Given the description of an element on the screen output the (x, y) to click on. 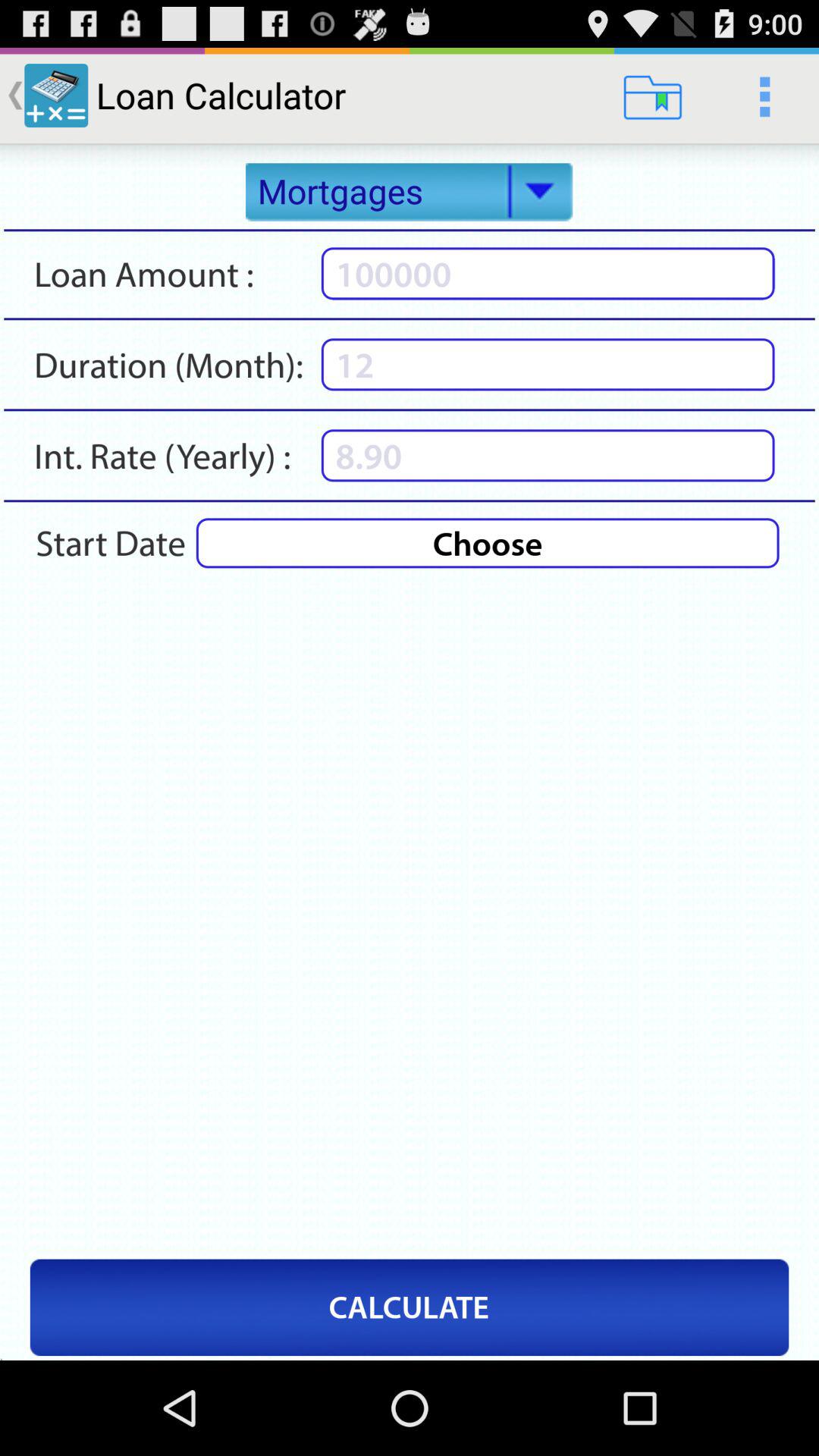
yearly interest rate (547, 455)
